Given the description of an element on the screen output the (x, y) to click on. 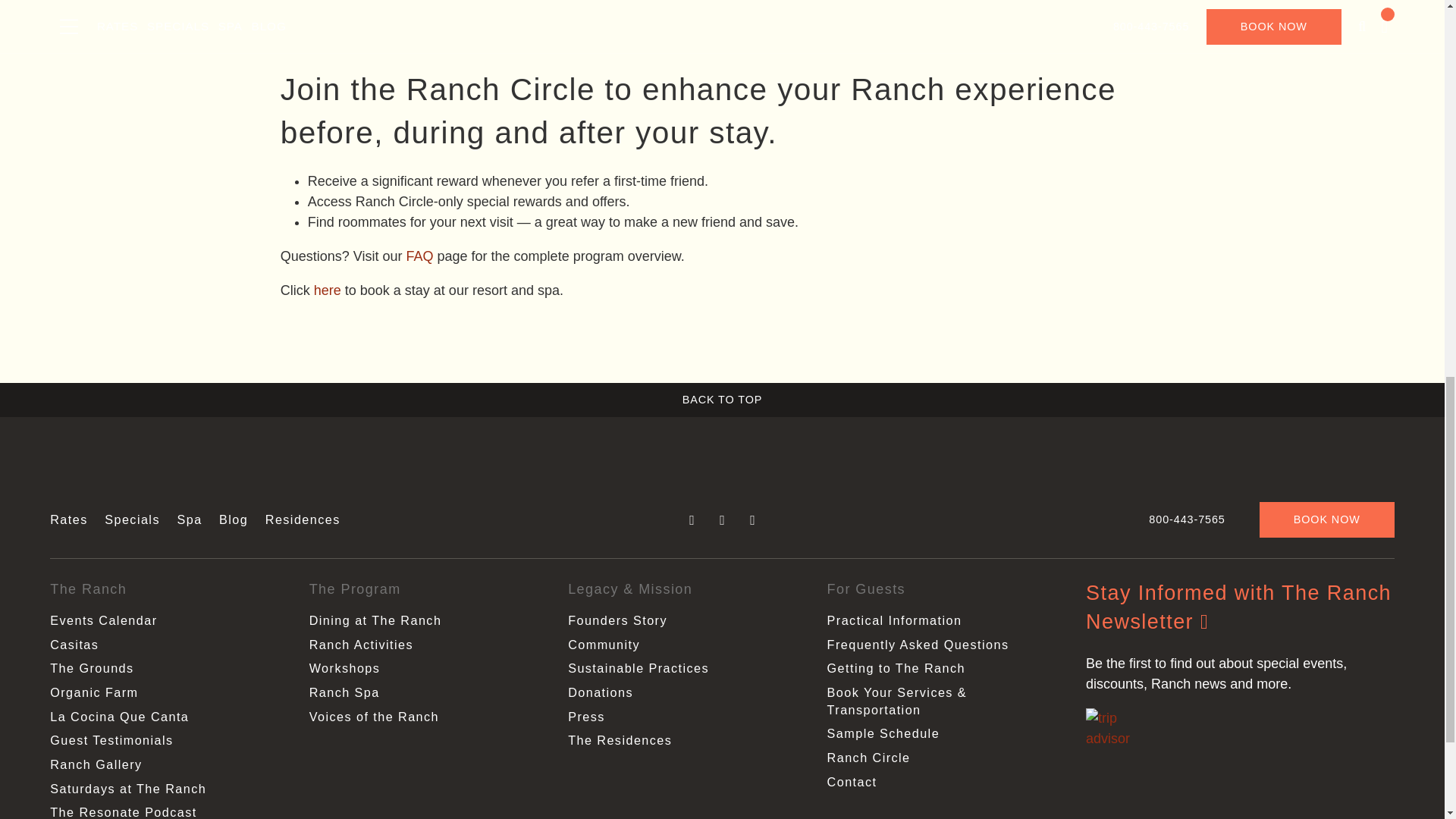
Make A Reservation (327, 290)
